Given the description of an element on the screen output the (x, y) to click on. 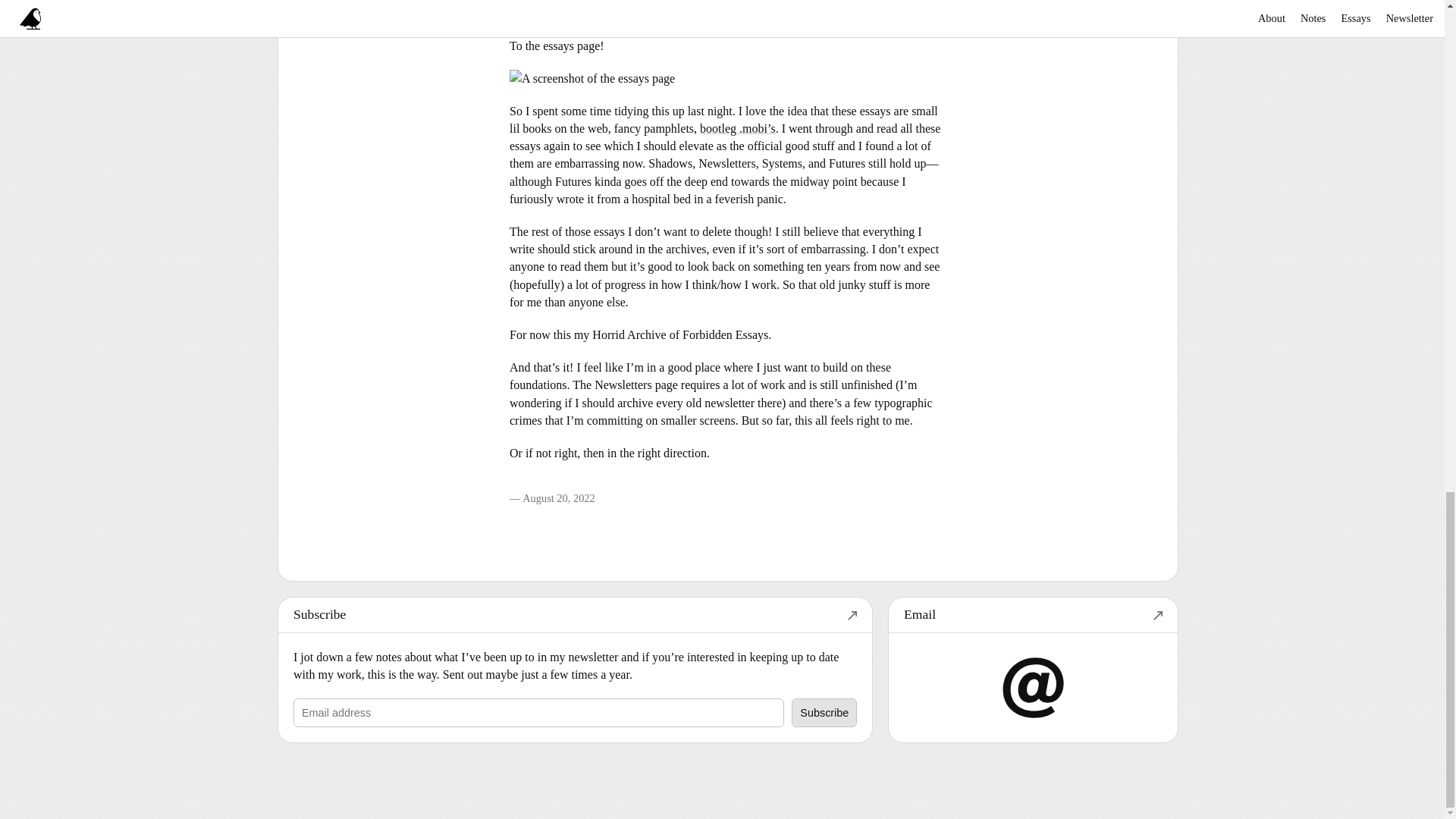
Email (1032, 615)
Subscribe (575, 615)
Subscribe (824, 712)
Subscribe (824, 712)
